Given the description of an element on the screen output the (x, y) to click on. 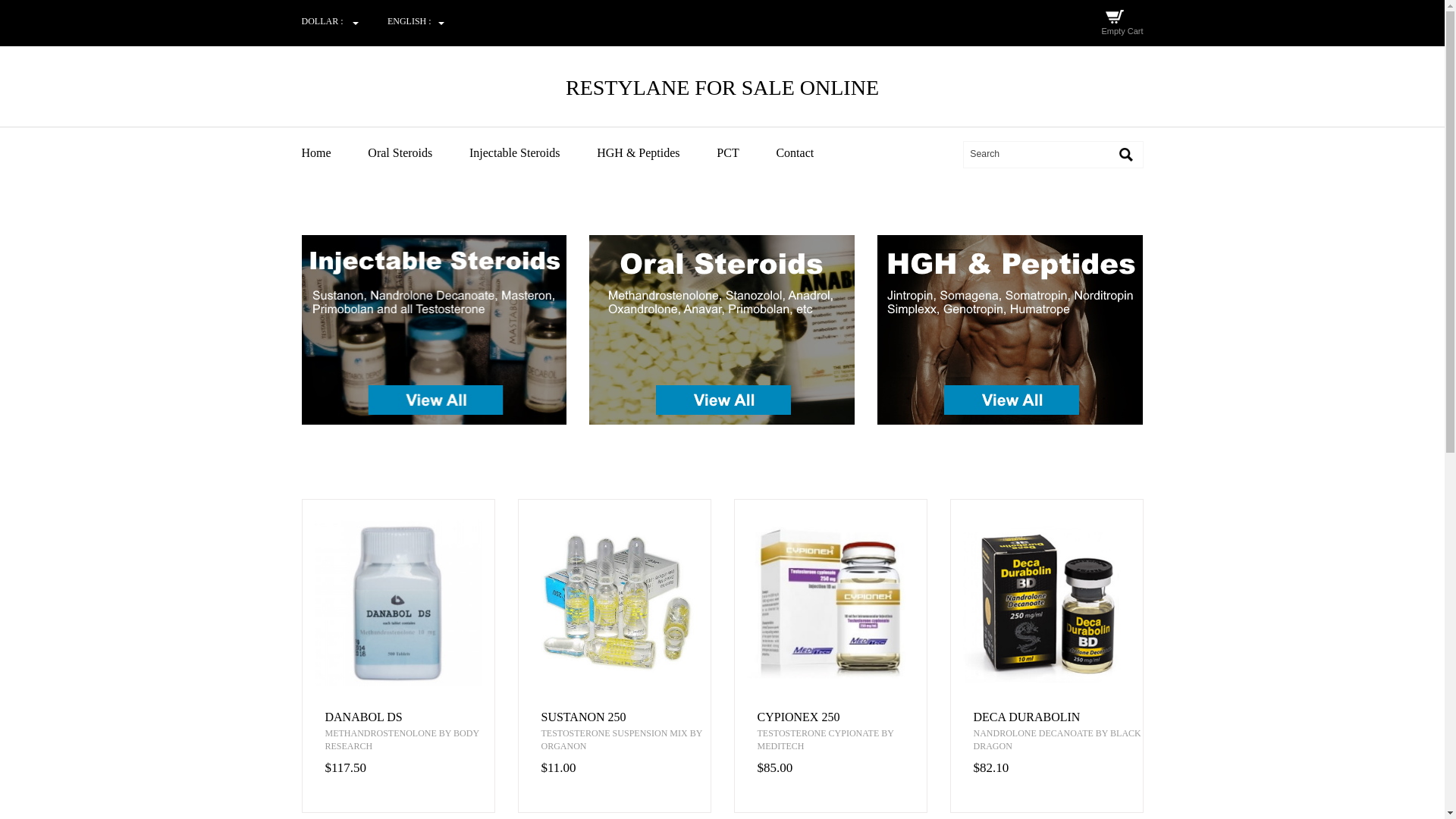
Oral Steroids (416, 153)
Contact (811, 153)
PCT (744, 153)
CYPIONEX 250 (841, 716)
Home (333, 153)
Empty Cart (1121, 31)
SUSTANON 250 (625, 716)
DECA DURABOLIN (1058, 716)
DANABOL DS (408, 716)
Injectable Steroids (531, 153)
